Given the description of an element on the screen output the (x, y) to click on. 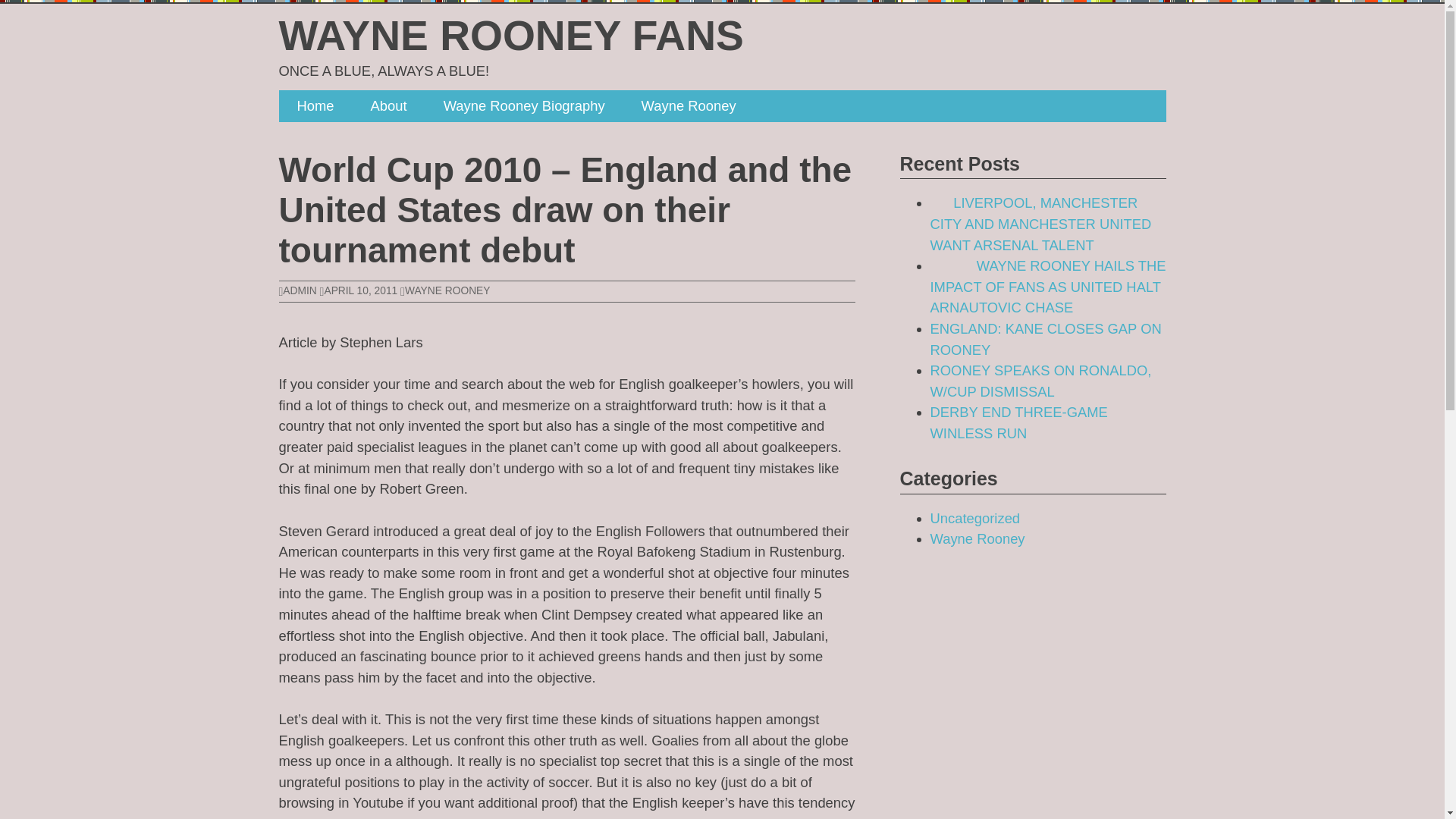
ENGLAND: KANE CLOSES GAP ON ROONEY (1045, 339)
ADMIN (298, 290)
Wayne Rooney (977, 538)
WAYNE ROONEY FANS (511, 35)
DERBY END THREE-GAME WINLESS RUN (1018, 422)
Wayne Rooney Biography (524, 106)
About (388, 106)
APRIL 10, 2011 (358, 290)
Uncategorized (975, 518)
